Given the description of an element on the screen output the (x, y) to click on. 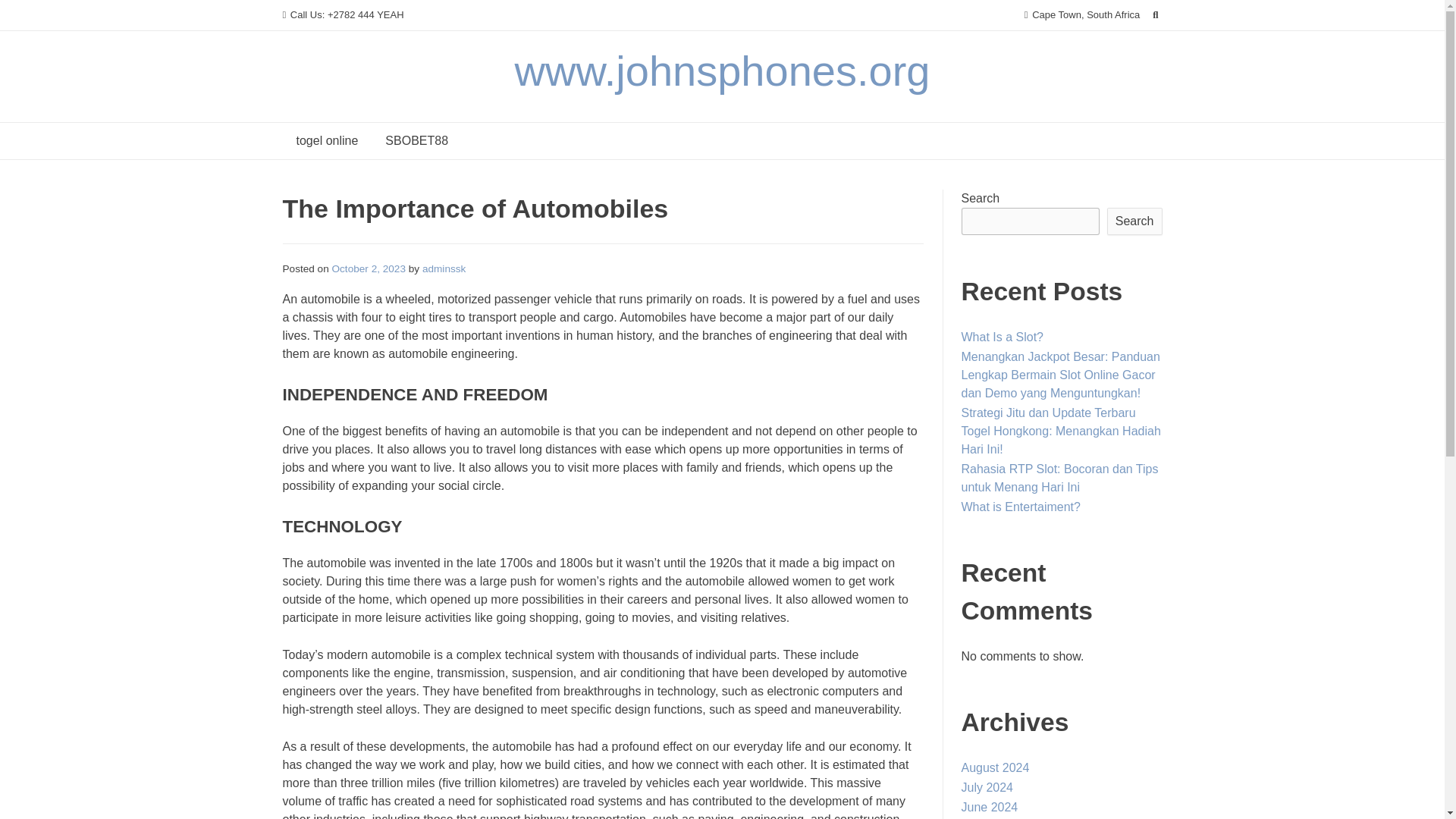
www.johnsphones.org (722, 70)
Search (1133, 221)
What is Entertaiment? (1020, 506)
August 2024 (994, 767)
Search (27, 13)
What Is a Slot? (1001, 336)
June 2024 (988, 807)
SBOBET88 (416, 140)
